Given the description of an element on the screen output the (x, y) to click on. 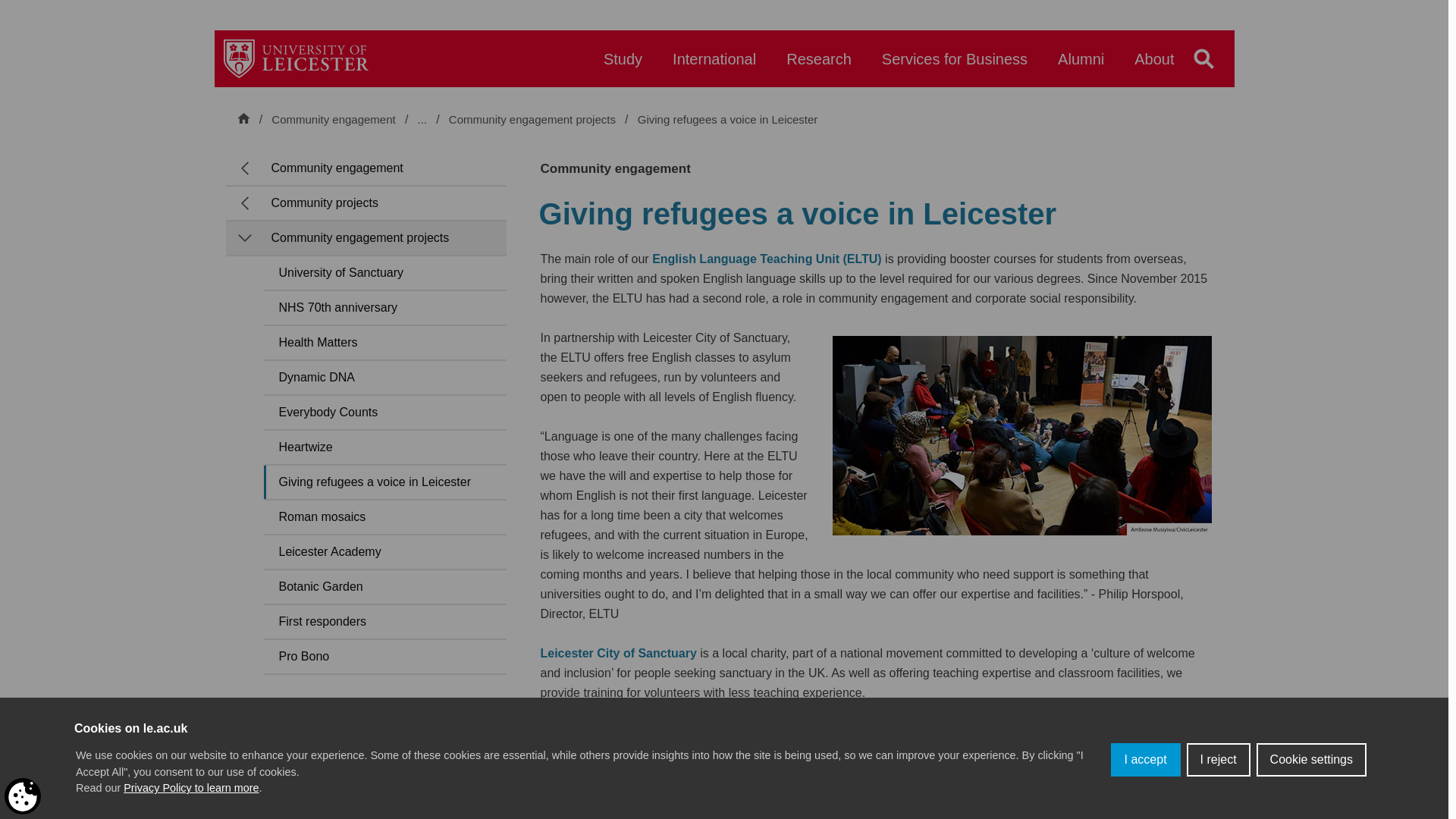
Community engagement projects (533, 119)
Return to homepage (295, 58)
Giving refugees a voice in Leicester (727, 119)
Cookie settings (1311, 759)
Community projects (499, 119)
Community engagement (332, 119)
I accept (1145, 759)
I reject (1218, 759)
Privacy Policy to learn more (191, 787)
Study (623, 65)
